Given the description of an element on the screen output the (x, y) to click on. 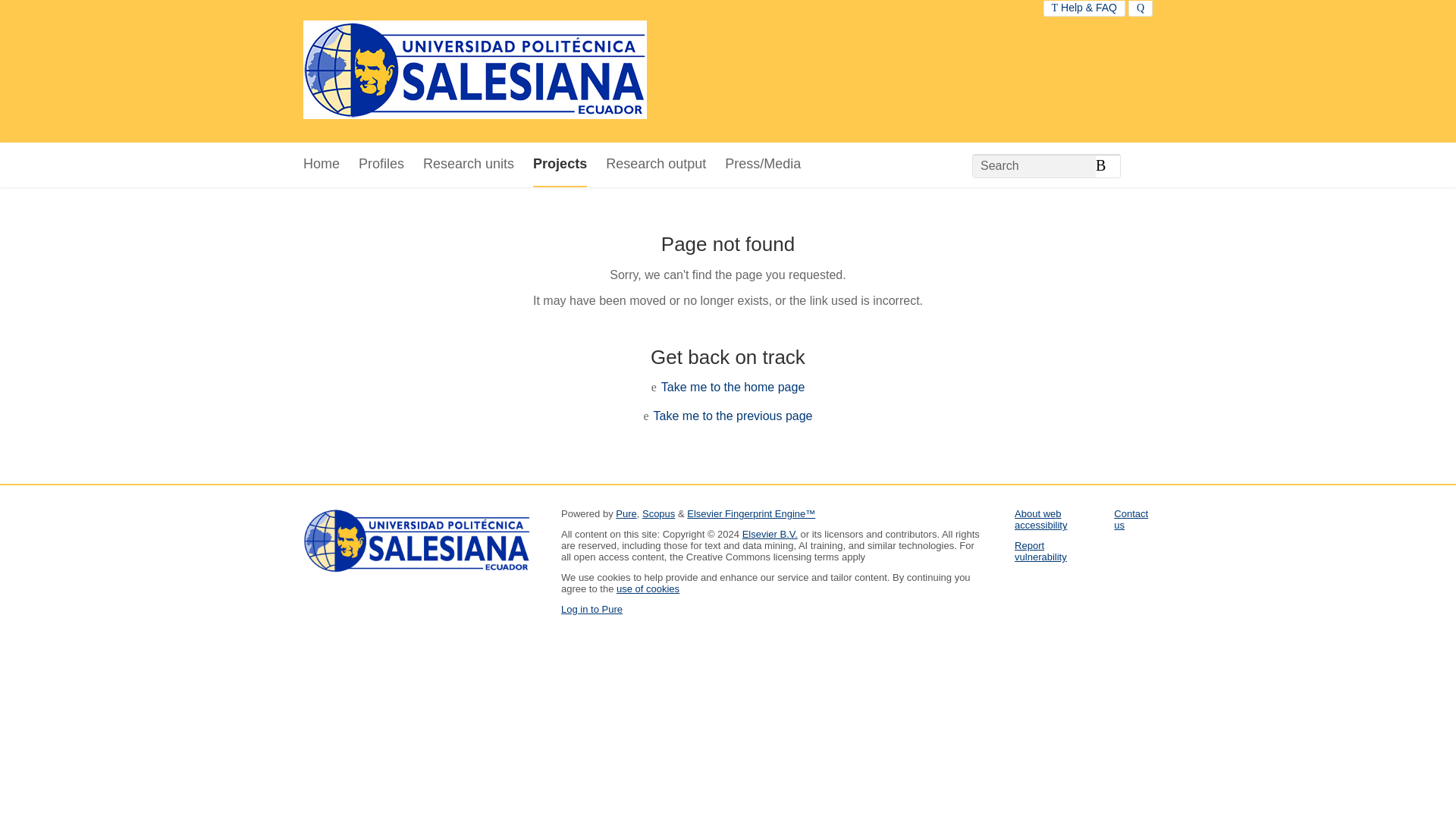
Elsevier B.V. (769, 533)
Scopus (658, 513)
About web accessibility (1040, 518)
use of cookies (647, 588)
Take me to the home page (733, 386)
Contact us (1130, 518)
Take me to the previous page (732, 415)
Profiles (381, 164)
Log in to Pure (591, 609)
Projects (559, 164)
Report vulnerability (1040, 550)
Pure (625, 513)
Research units (468, 164)
Research output (655, 164)
